Given the description of an element on the screen output the (x, y) to click on. 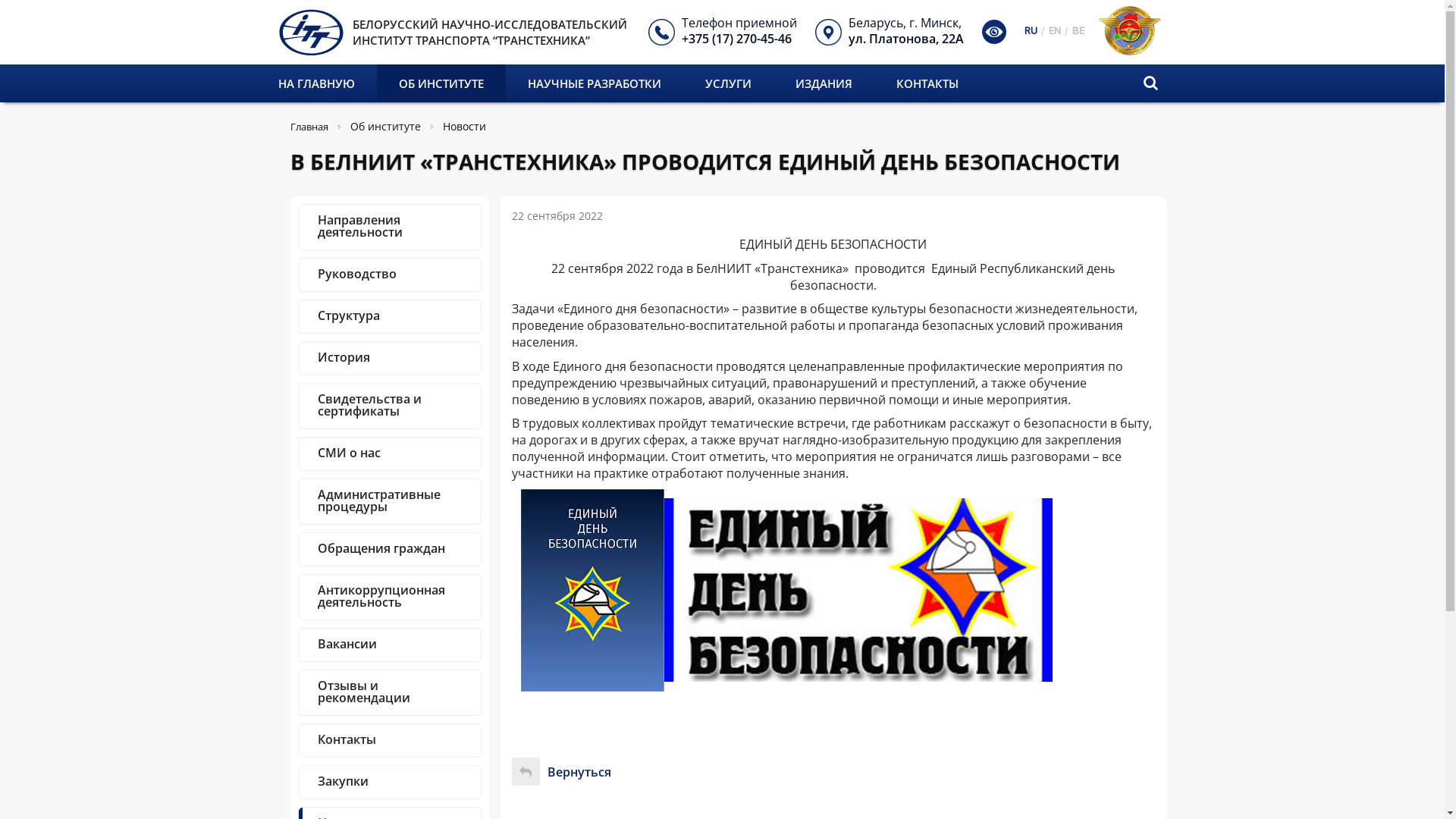
EN Element type: text (1054, 27)
RU Element type: text (1030, 27)
BE Element type: text (1078, 27)
